Given the description of an element on the screen output the (x, y) to click on. 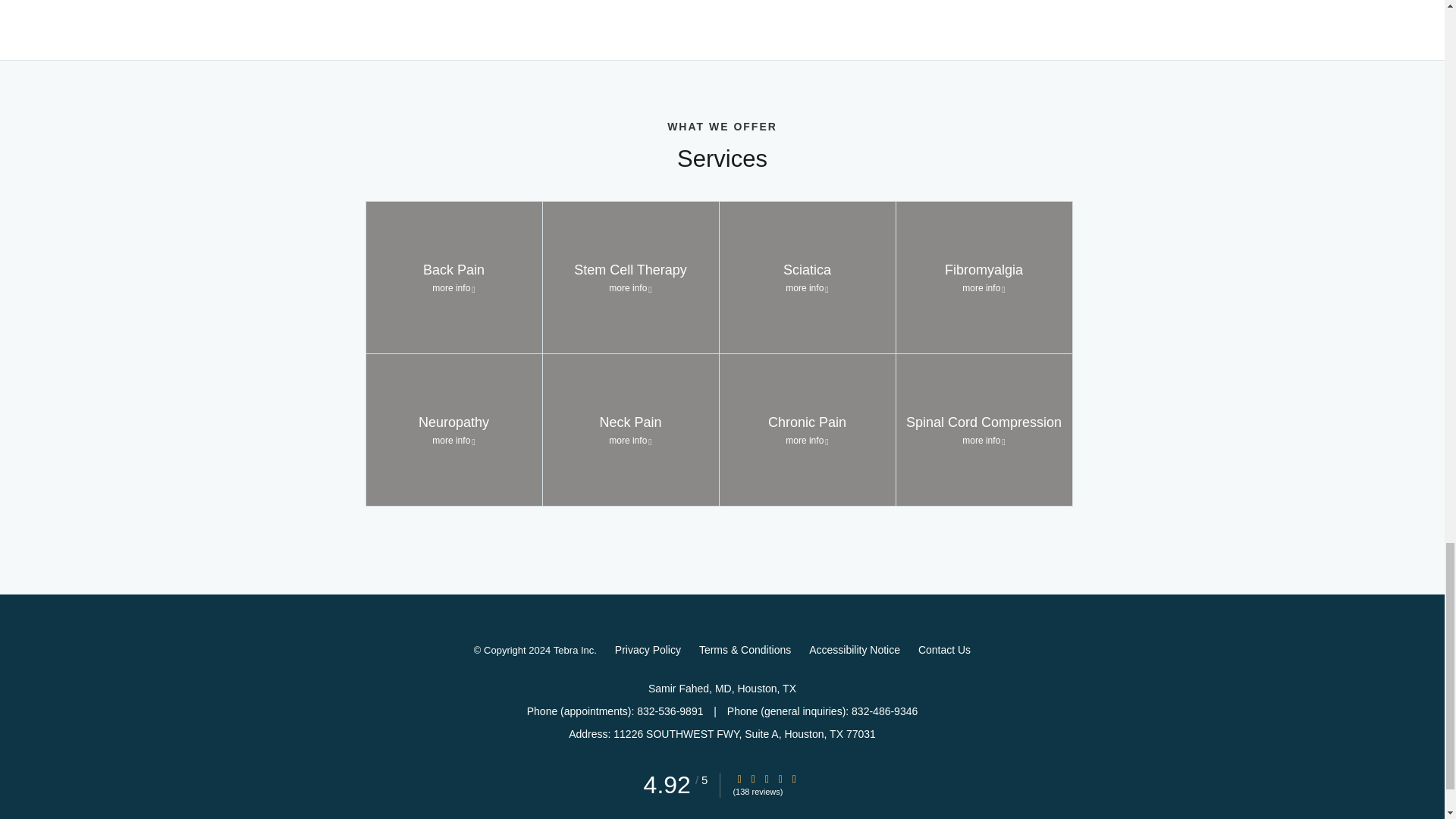
Star Rating (753, 778)
Star Rating (766, 778)
Star Rating (738, 778)
Star Rating (794, 778)
Star Rating (780, 778)
